Given the description of an element on the screen output the (x, y) to click on. 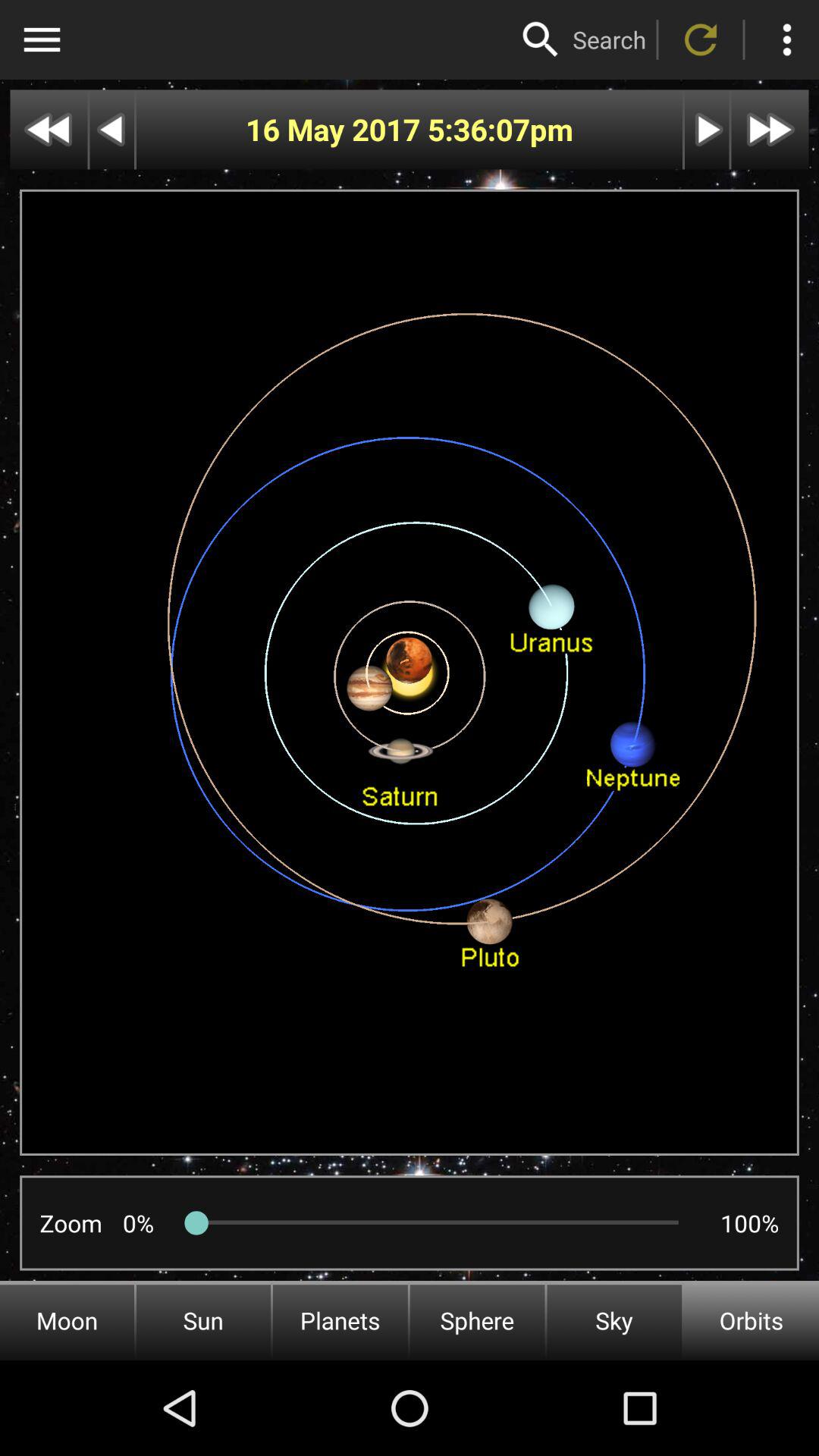
open item to the left of the search (540, 39)
